Given the description of an element on the screen output the (x, y) to click on. 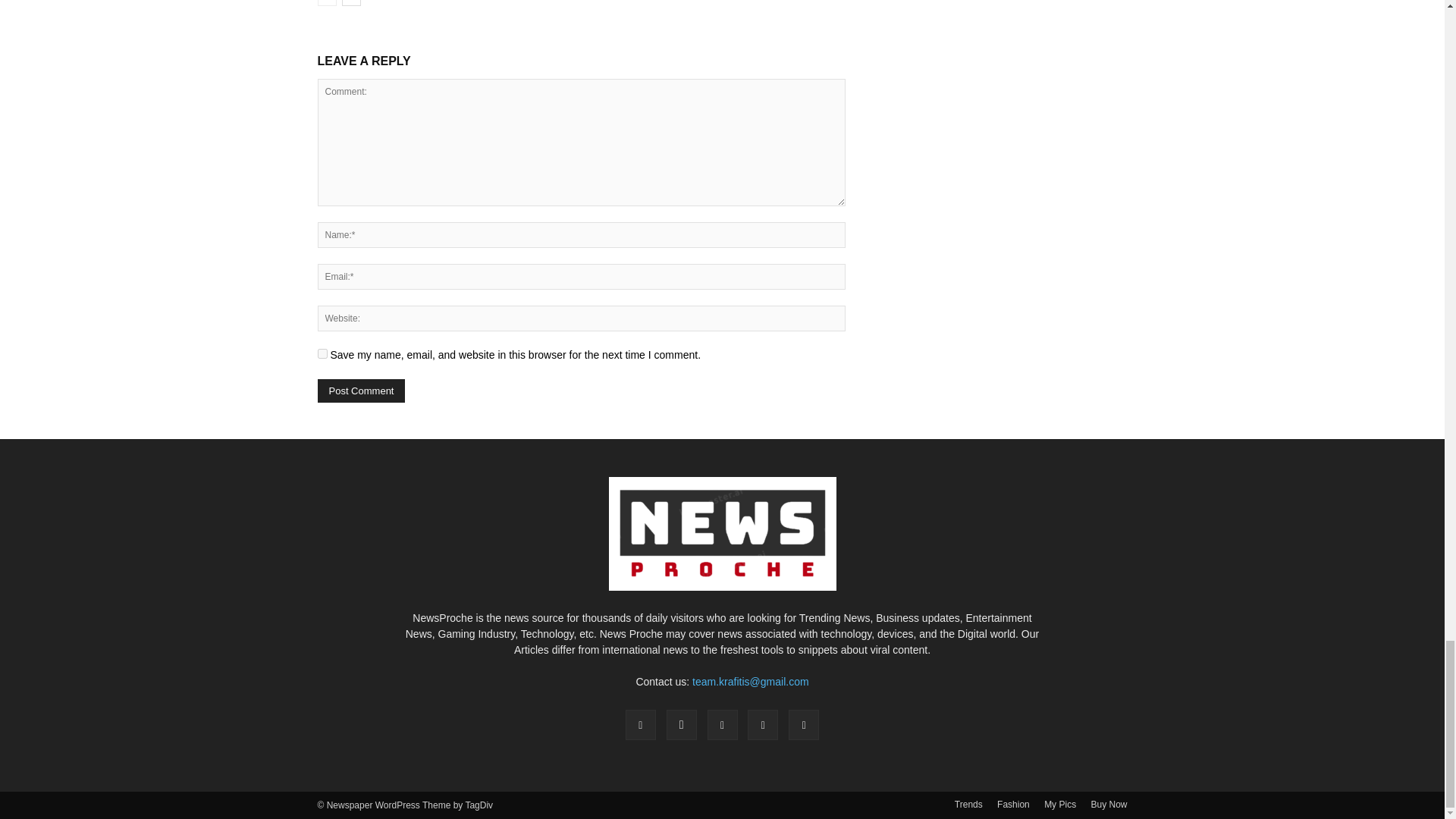
Post Comment (360, 390)
yes (321, 353)
